Given the description of an element on the screen output the (x, y) to click on. 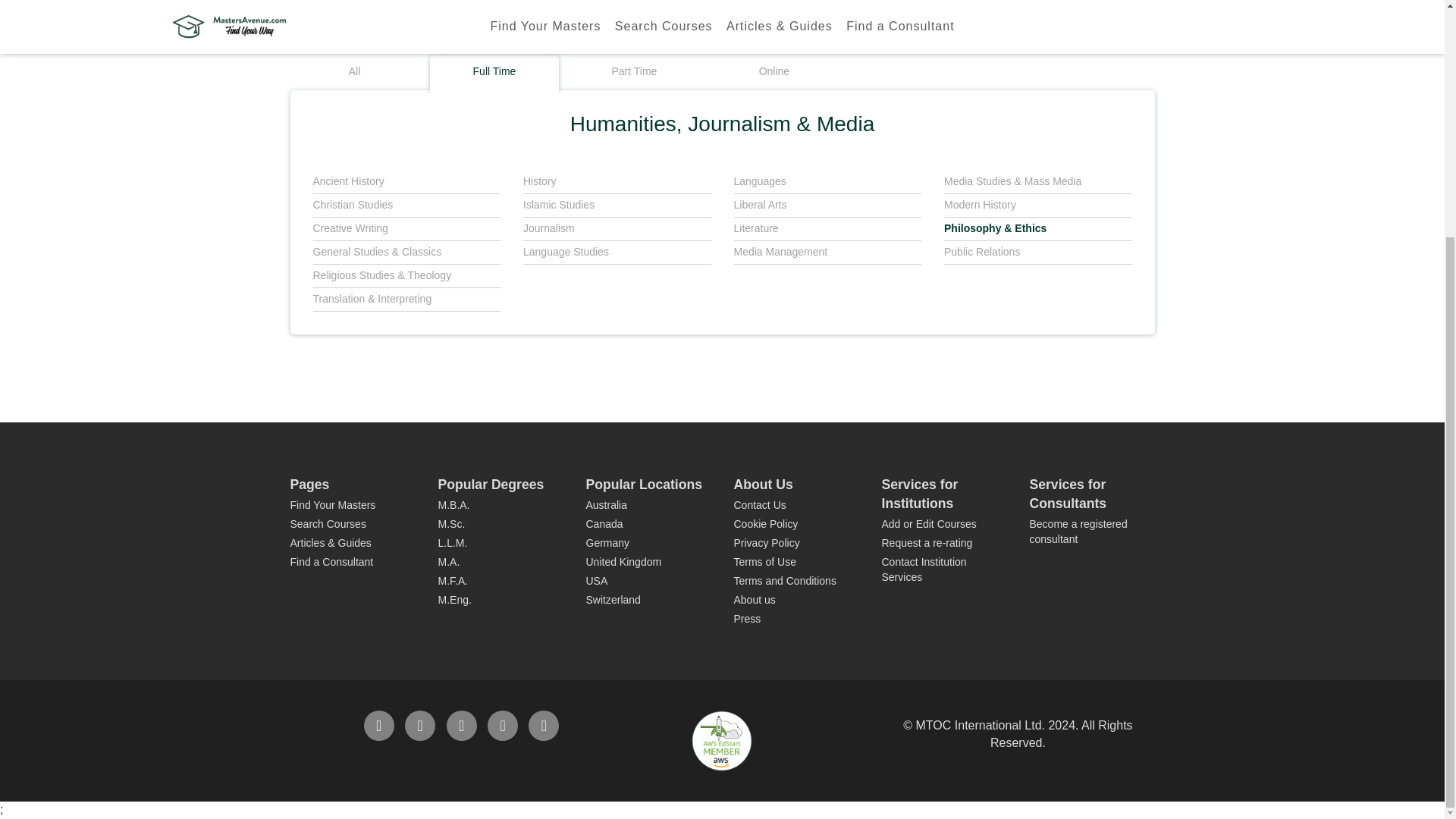
Full Time (494, 72)
Online (774, 72)
Part Time (633, 72)
All (354, 72)
